Given the description of an element on the screen output the (x, y) to click on. 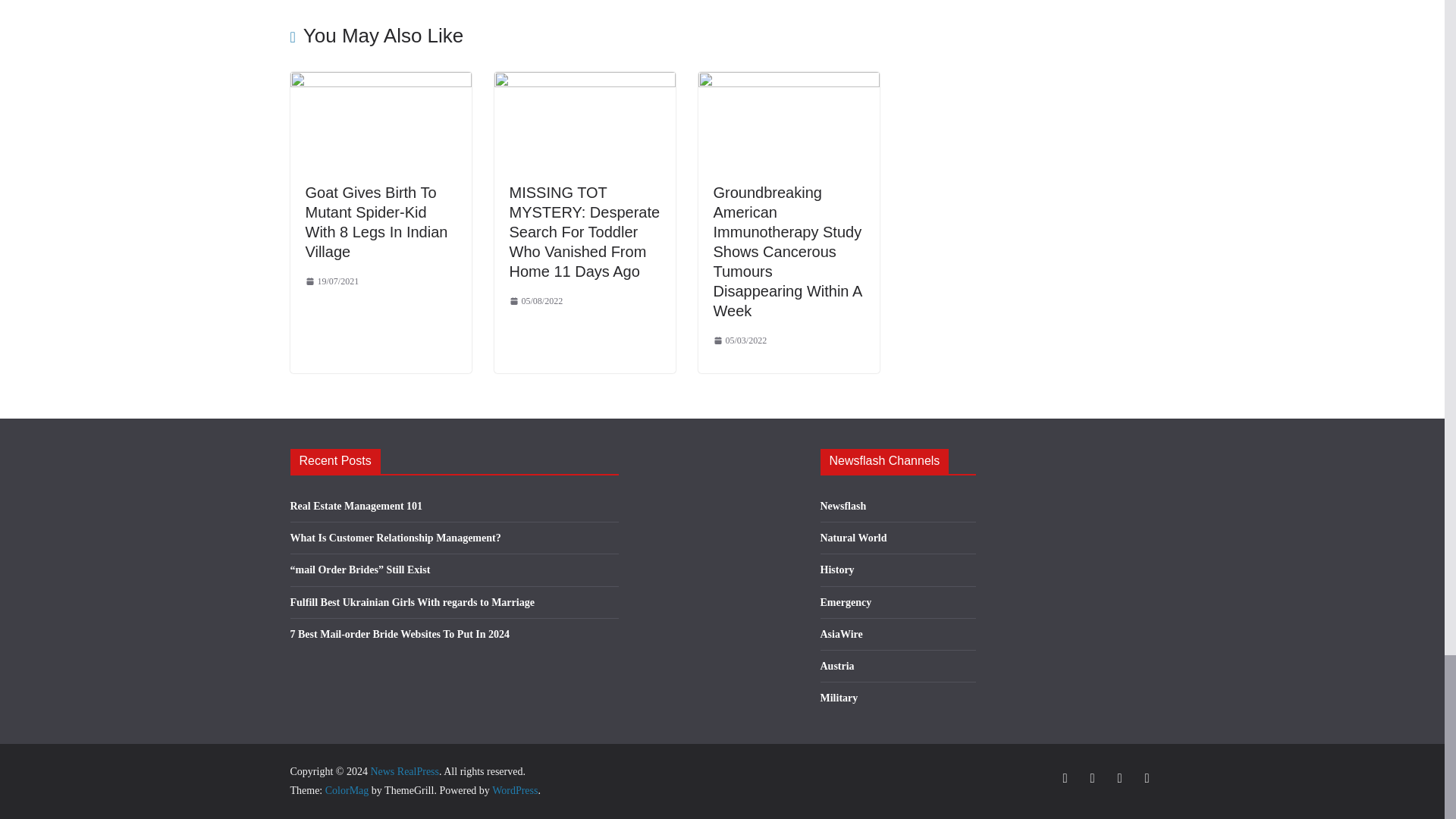
21:20 (331, 281)
